Given the description of an element on the screen output the (x, y) to click on. 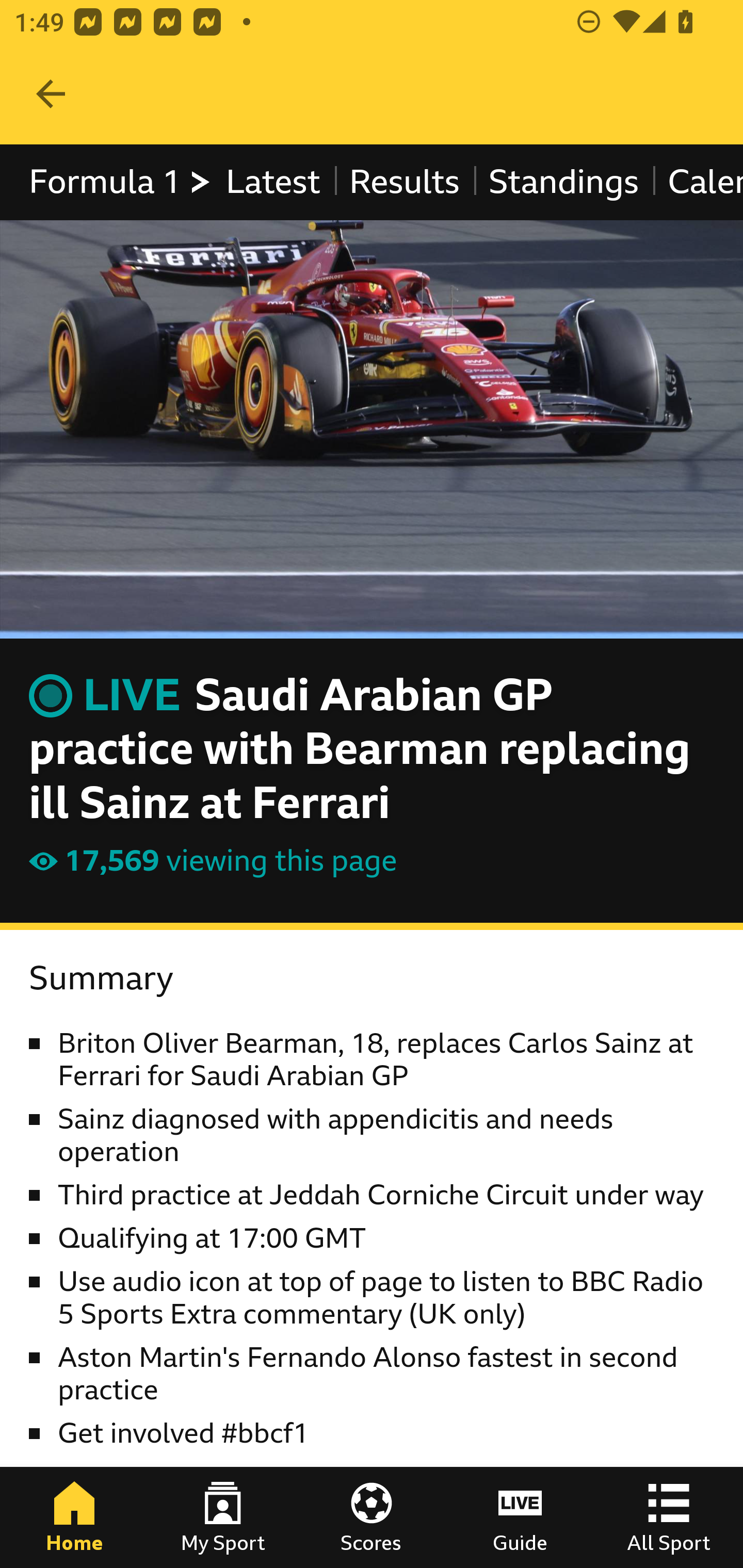
Navigate up (50, 93)
Formula 1  (120, 181)
Latest (272, 181)
Results (403, 181)
Standings (564, 181)
My Sport (222, 1517)
Scores (371, 1517)
Guide (519, 1517)
All Sport (668, 1517)
